Given the description of an element on the screen output the (x, y) to click on. 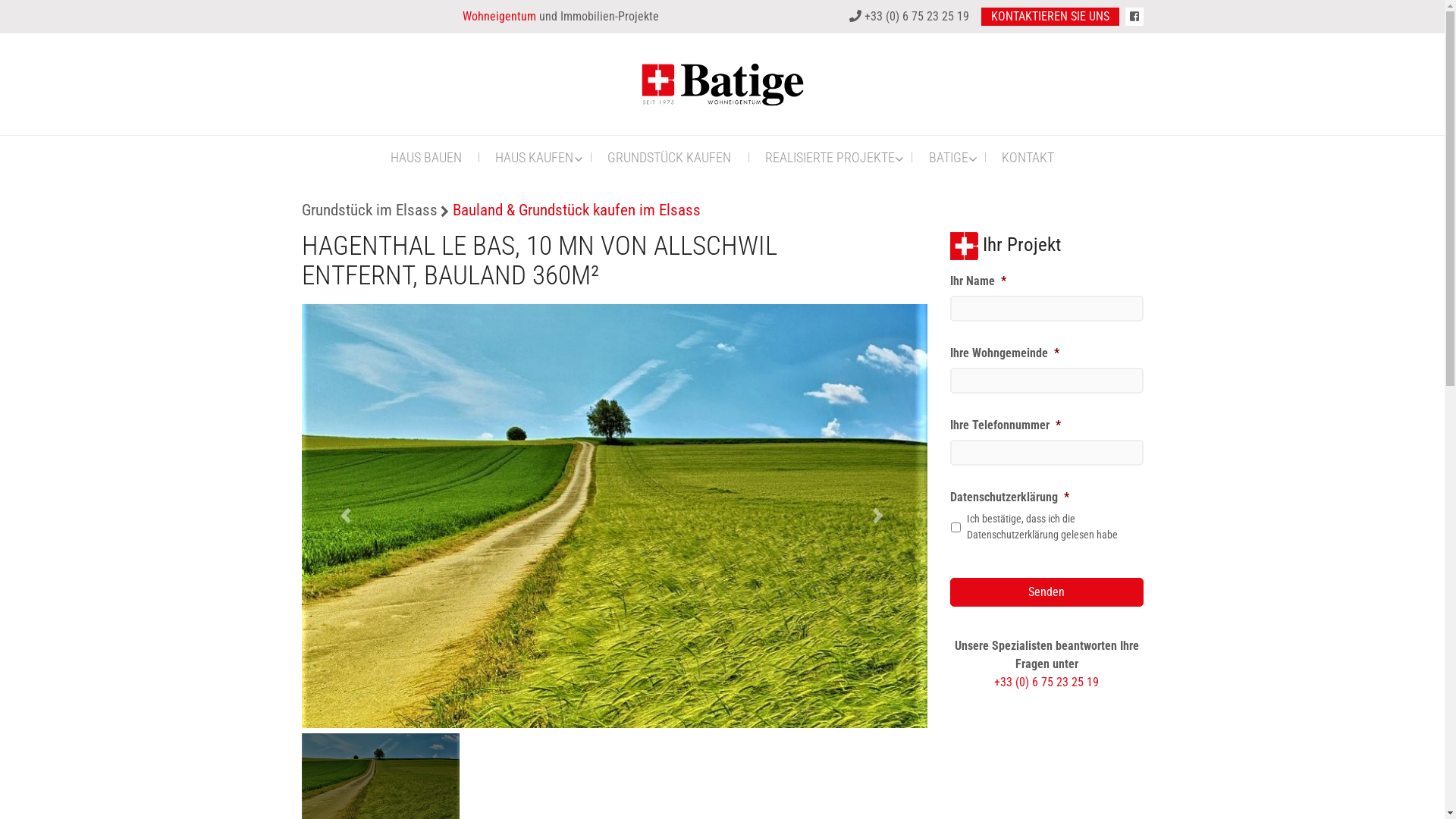
+33 (0) 6 75 23 25 19 Element type: text (1046, 681)
HAUS KAUFEN Element type: text (534, 156)
Senden Element type: text (1045, 591)
REALISIERTE PROJEKTE Element type: text (829, 156)
BATIGE Element type: text (948, 156)
Vormonat Element type: text (348, 516)
KONTAKTIEREN SIE UNS Element type: text (1050, 16)
KONTAKT Element type: text (1028, 156)
Folgemonat Element type: text (880, 516)
HAUS BAUEN Element type: text (425, 156)
